Given the description of an element on the screen output the (x, y) to click on. 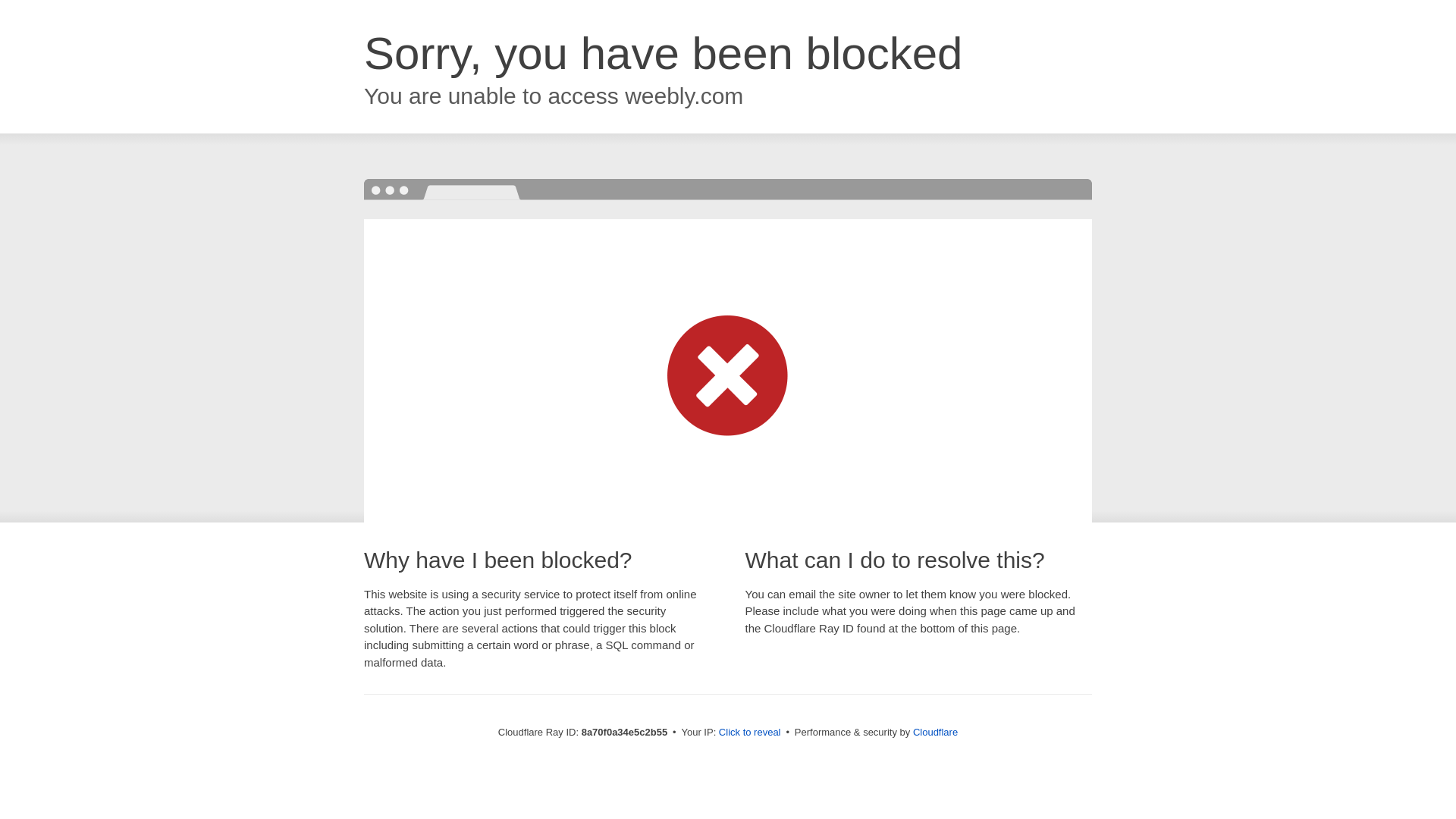
Cloudflare (935, 731)
Click to reveal (749, 732)
